Given the description of an element on the screen output the (x, y) to click on. 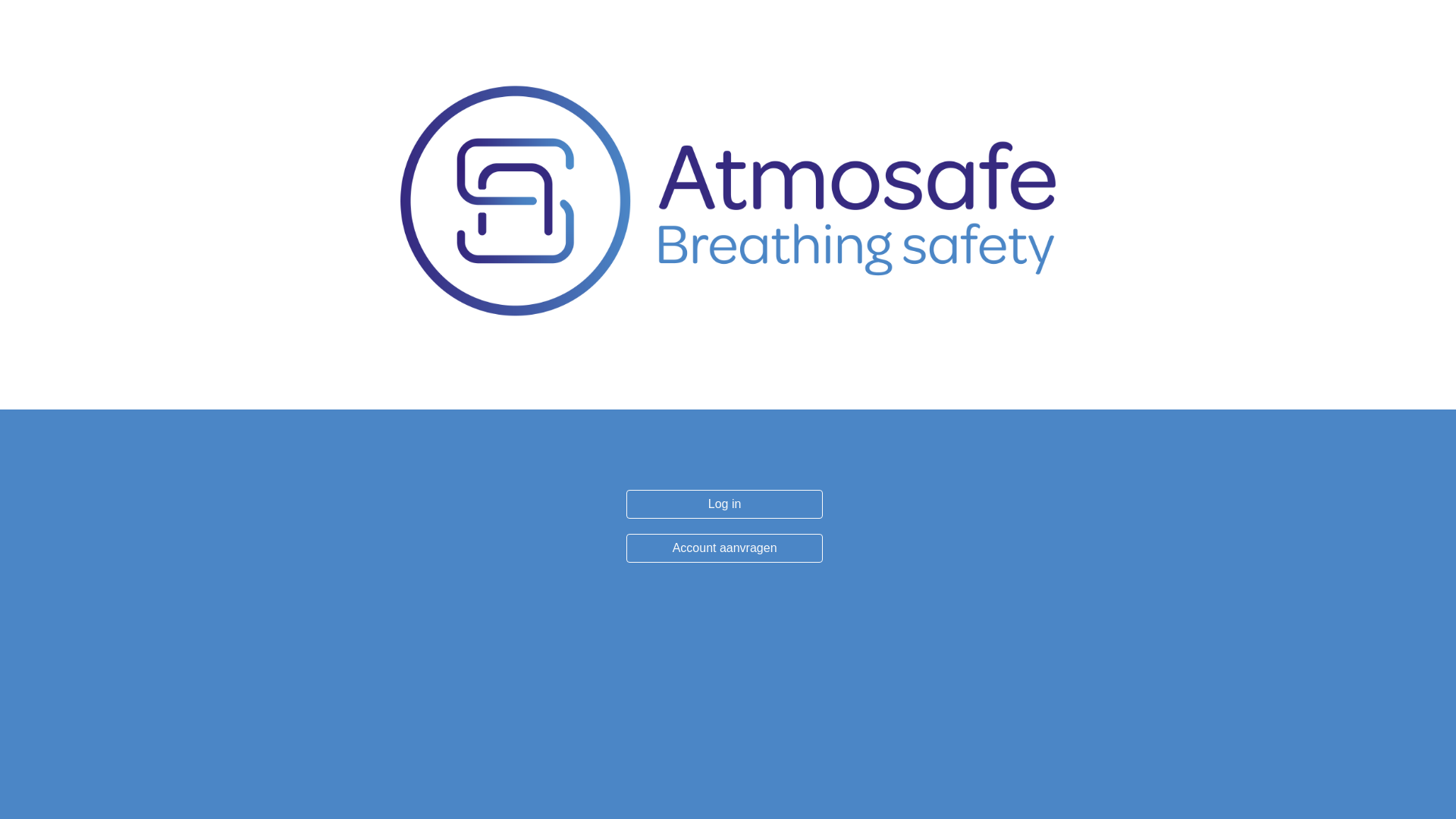
Account aanvragen Element type: text (724, 547)
Log in Element type: text (724, 503)
